Given the description of an element on the screen output the (x, y) to click on. 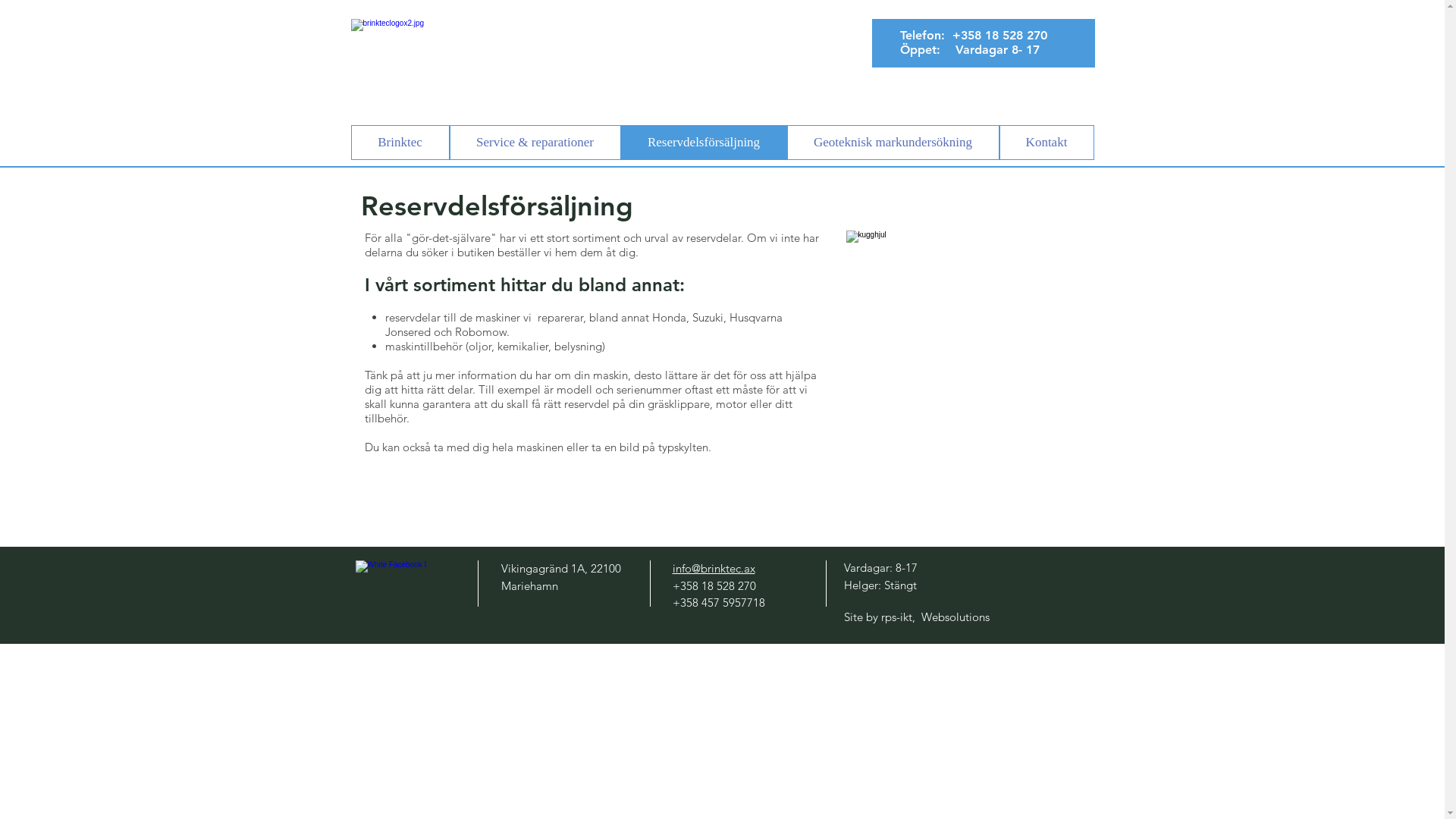
Kontakt Element type: text (1046, 142)
Brinktec Element type: text (399, 142)
info@brinktec.ax Element type: text (712, 568)
Service & reparationer Element type: text (534, 142)
